Given the description of an element on the screen output the (x, y) to click on. 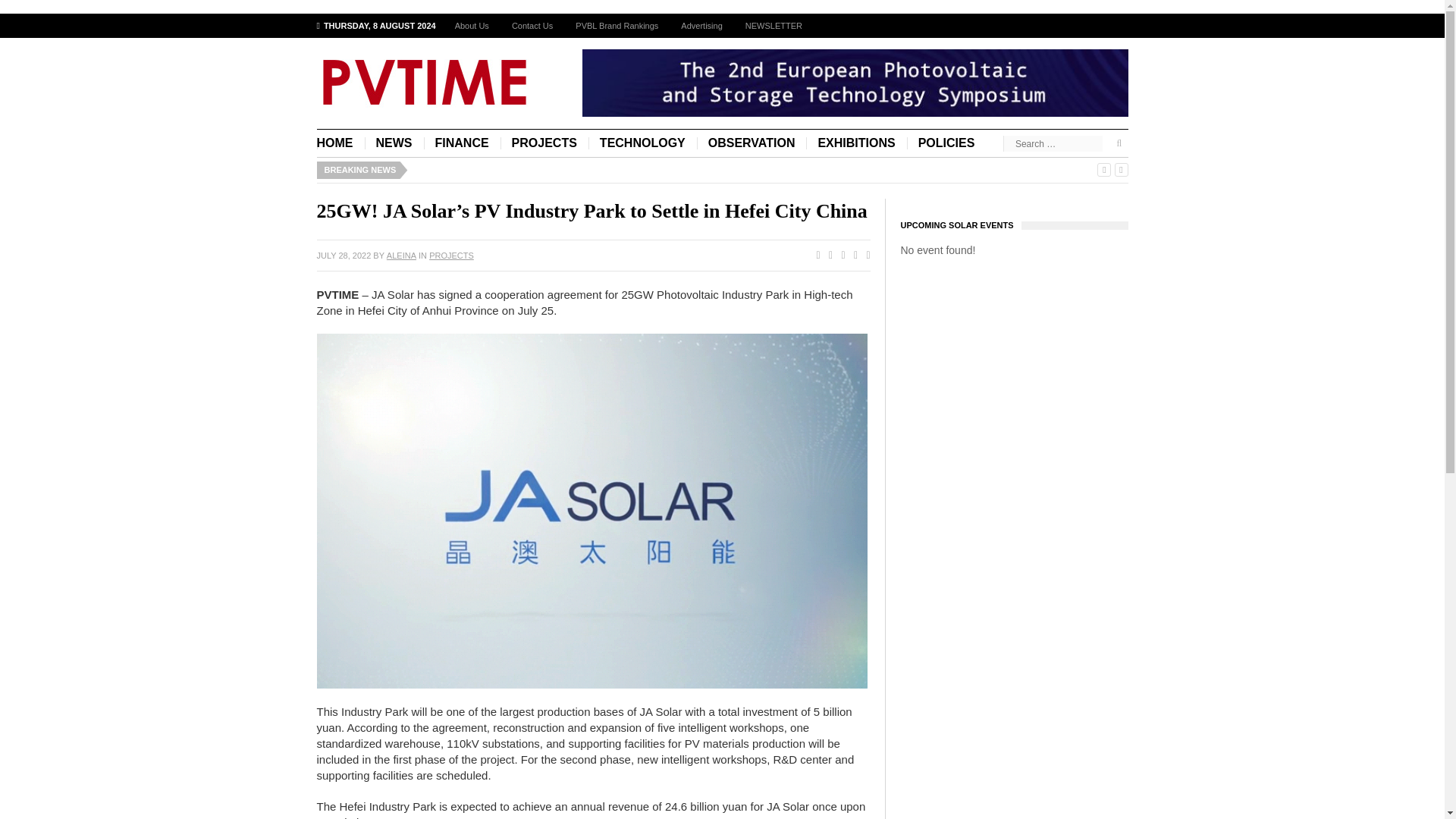
Pinterest (852, 255)
FINANCE (461, 142)
HOME (341, 142)
Contact Us (532, 25)
ALEINA (401, 255)
Facebook (814, 255)
POLICIES (947, 142)
NEWSLETTER (773, 25)
PVBL Brand Rankings (616, 25)
LinkedIn (864, 255)
PROJECTS (544, 142)
OBSERVATION (751, 142)
EXHIBITIONS (855, 142)
TECHNOLOGY (642, 142)
NEWS (393, 142)
